Given the description of an element on the screen output the (x, y) to click on. 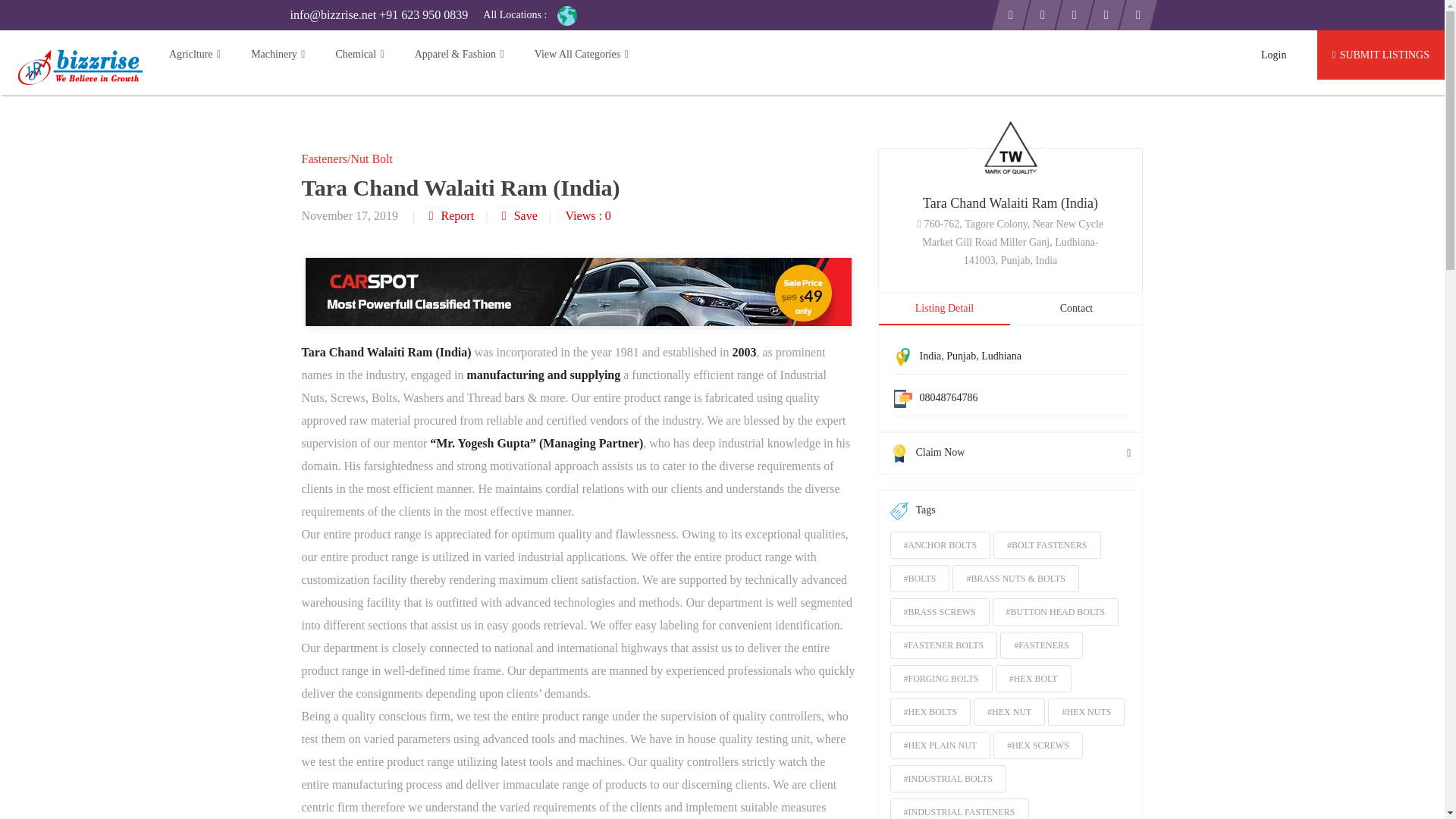
Machinery (277, 54)
View All Categories (573, 54)
Hex Bolt (1033, 678)
Hex Bolts (930, 711)
Hex Nut (1009, 711)
Chemical (359, 54)
Bolt Fasteners (1046, 544)
SUBMIT LISTINGS (1380, 54)
Brass Screws (939, 611)
Fastener Bolts (943, 645)
